Given the description of an element on the screen output the (x, y) to click on. 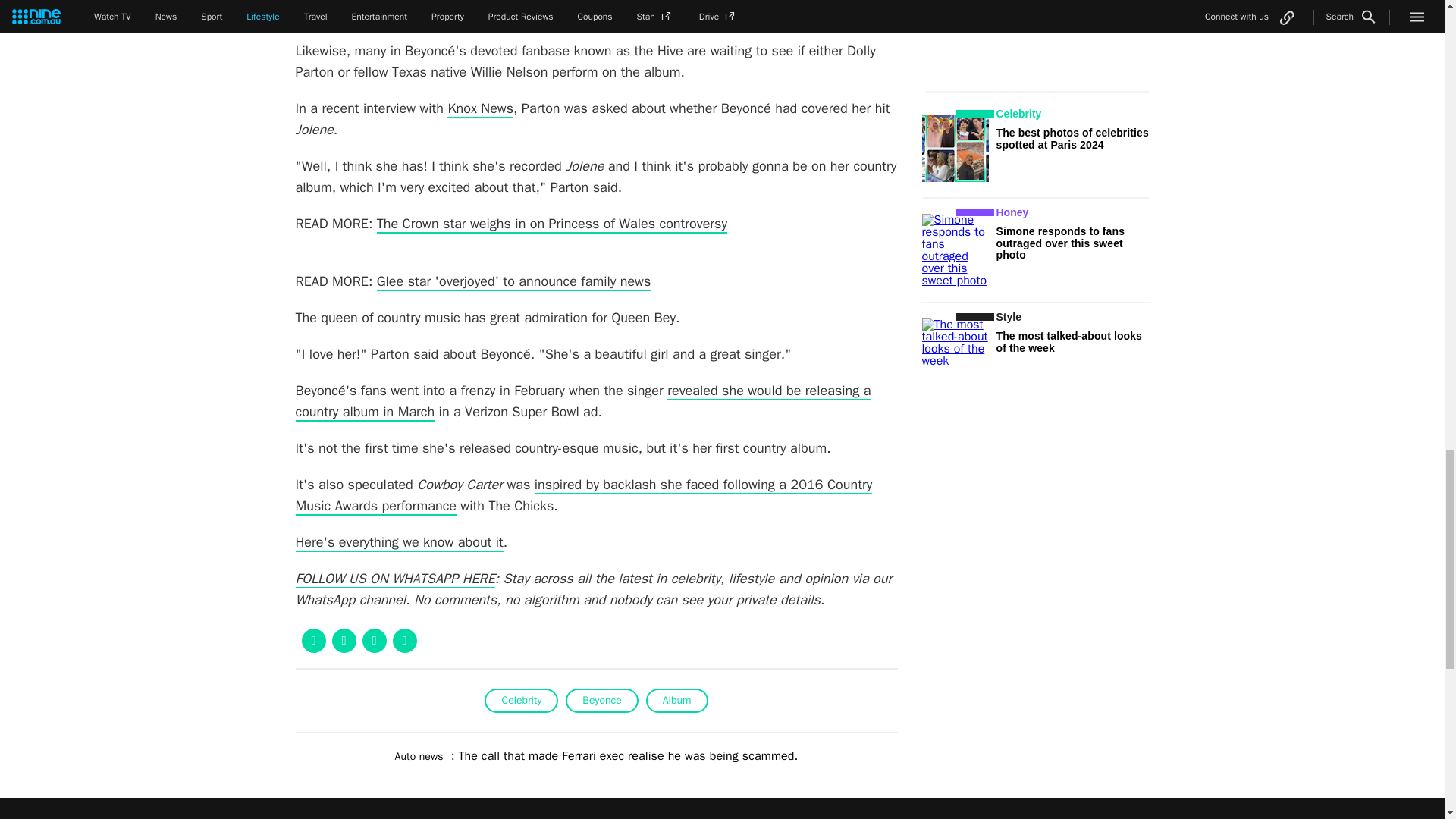
facebook (1066, 816)
instagram (1121, 816)
revealed she would be releasing a country album in March (582, 401)
Here's everything we know about it (399, 542)
Knox News (479, 108)
twitter (1175, 816)
